Given the description of an element on the screen output the (x, y) to click on. 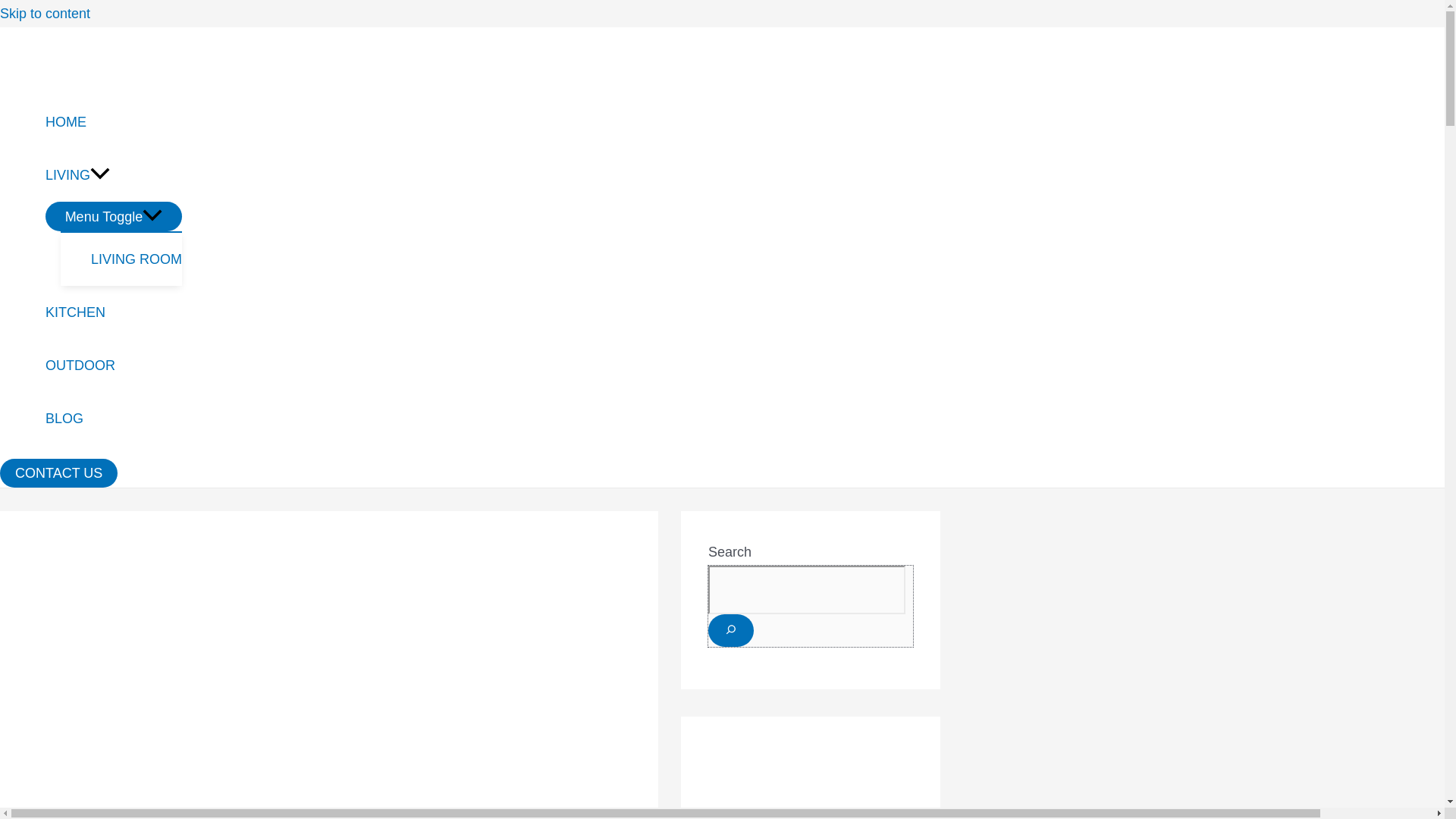
Skip to content (45, 13)
CONTACT US (58, 472)
KITCHEN (113, 312)
HOME (113, 121)
Menu Toggle (113, 215)
LIVING ROOM (136, 258)
OUTDOOR (113, 365)
LIVING (113, 174)
Skip to content (45, 13)
BLOG (113, 418)
